Given the description of an element on the screen output the (x, y) to click on. 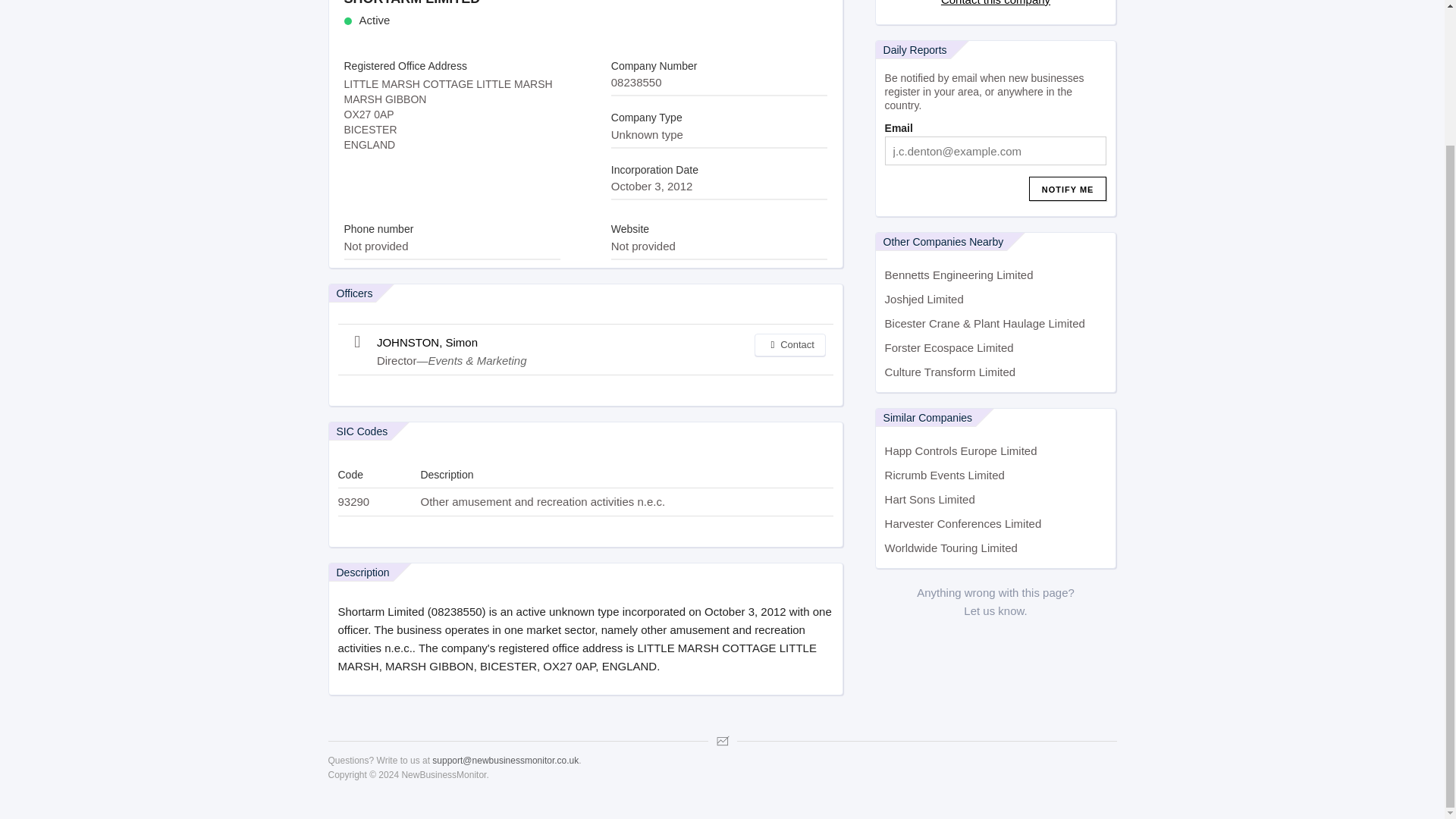
Contact (789, 344)
Happ Controls Europe Limited (996, 450)
Ricrumb Events Limited (996, 475)
Bennetts Engineering Limited (996, 274)
Joshjed Limited (996, 299)
Let us know. (994, 610)
Worldwide Touring Limited (996, 548)
Contact this company (994, 2)
Forster Ecospace Limited (996, 347)
NOTIFY ME (1067, 188)
Culture Transform Limited (996, 372)
Hart Sons Limited (996, 499)
Harvester Conferences Limited (996, 523)
